Given the description of an element on the screen output the (x, y) to click on. 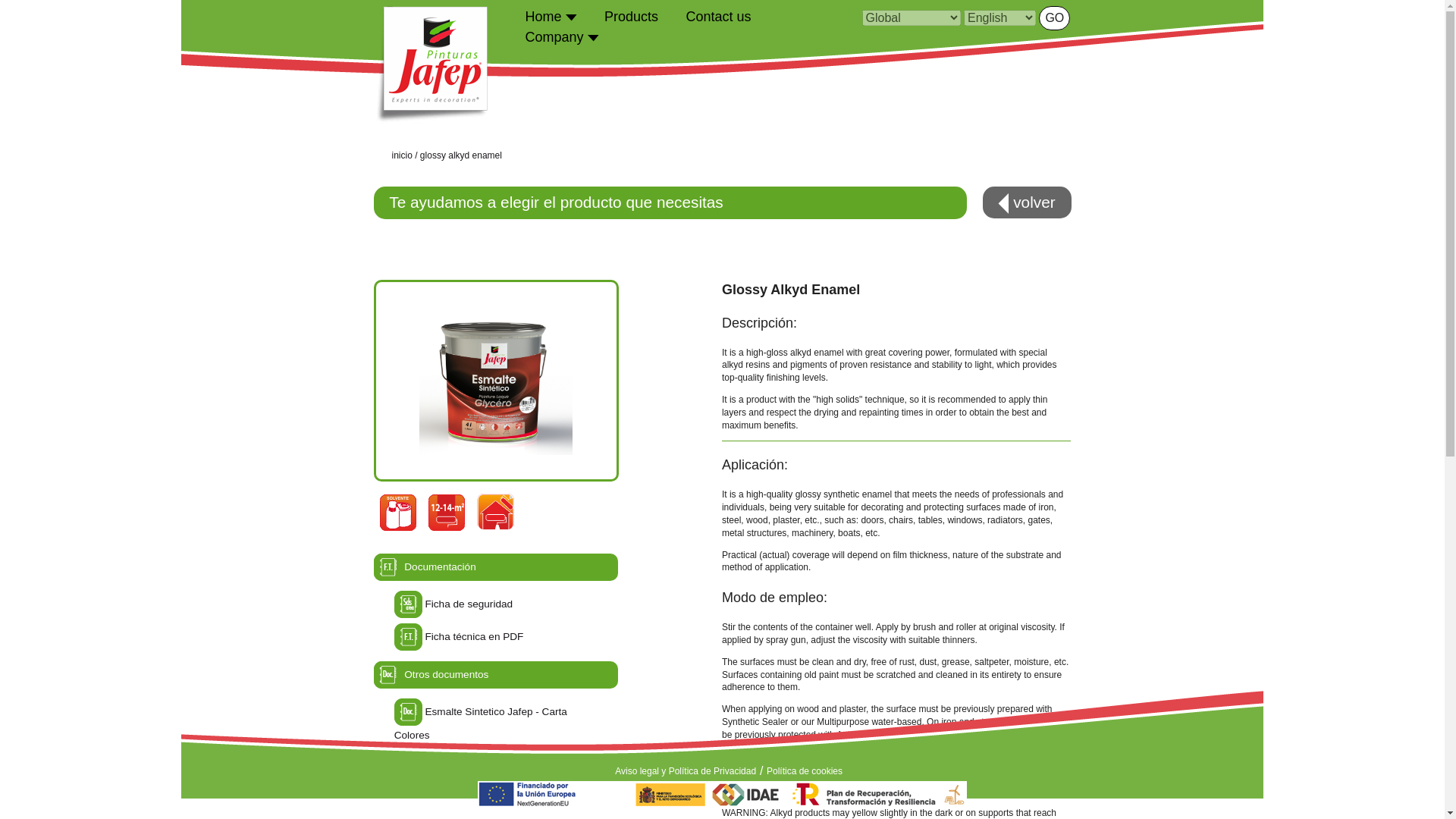
Volver (1026, 202)
Company (561, 36)
Esmalte Sintetico Jafep - Carta Colores (480, 723)
45-Exterior-Interior (494, 511)
volver (1026, 202)
GO (1054, 17)
Esmalte Sintetico Jafep - Carta Colores (408, 711)
Contact us (718, 16)
30-Rendimiento 12-14 m2 (446, 511)
Ficha de seguridad (468, 603)
Products (631, 16)
Pinturas JAFEP (429, 63)
